Given the description of an element on the screen output the (x, y) to click on. 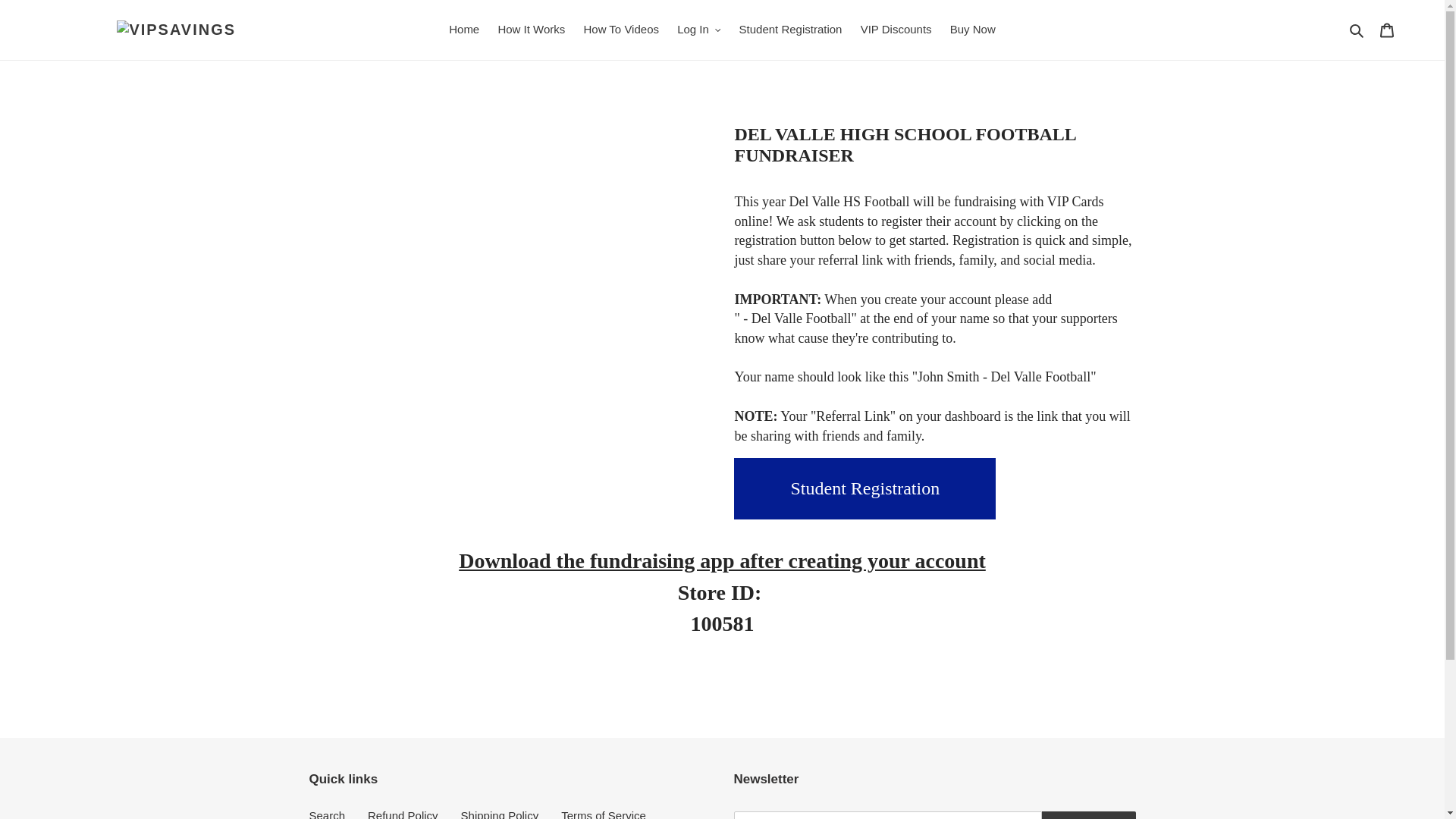
Search (1357, 29)
Shipping Policy (499, 813)
Refund Policy (403, 813)
SUBSCRIBE (1088, 815)
Buy Now (972, 29)
Terms of Service (603, 813)
Search (327, 813)
Cart (1387, 29)
Student Registration (791, 29)
VIP Discounts (896, 29)
How To Videos (620, 29)
Student Registration (864, 488)
How It Works (530, 29)
Home (463, 29)
Log In (698, 29)
